Given the description of an element on the screen output the (x, y) to click on. 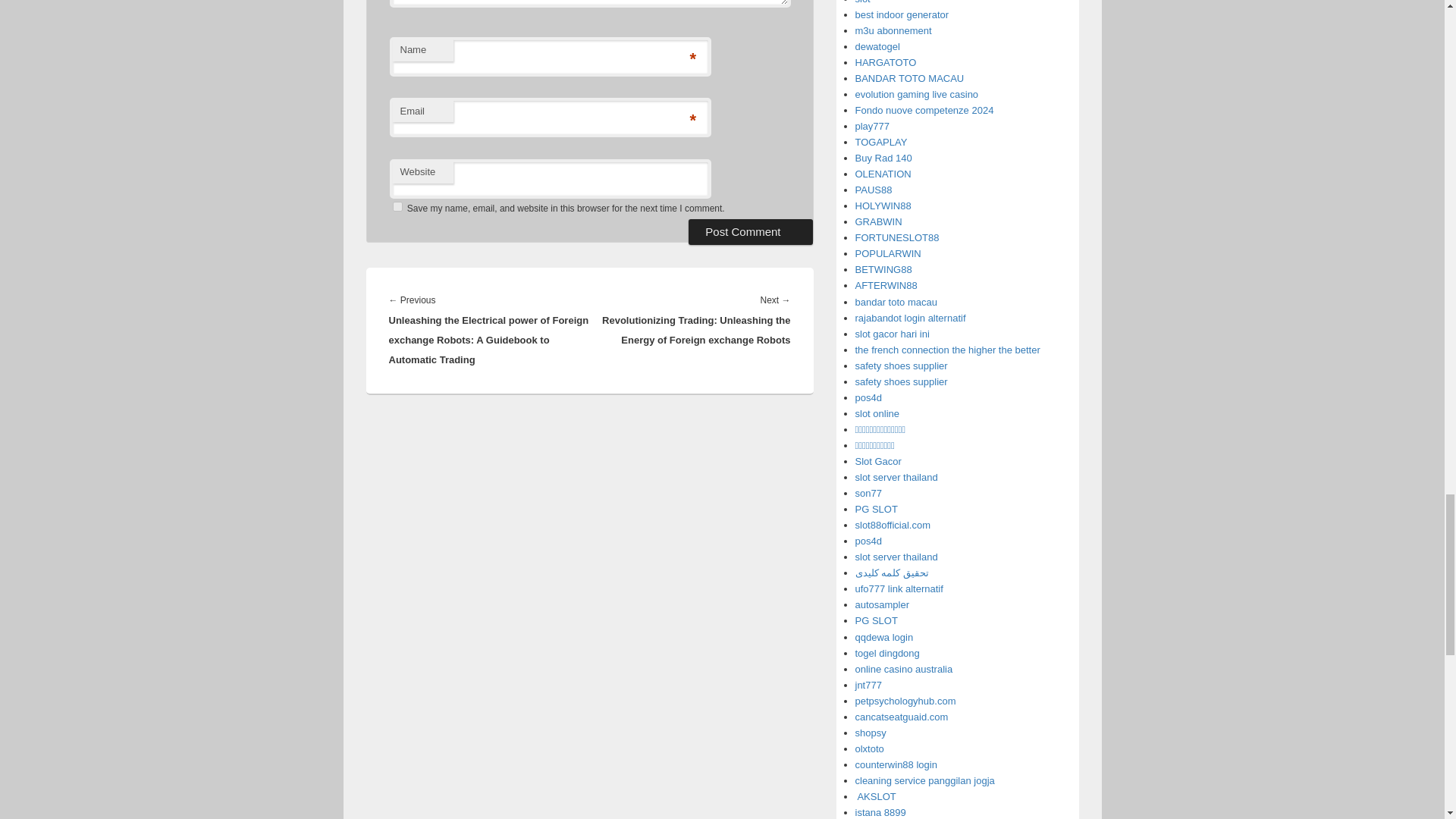
Post Comment (750, 231)
Post Comment (750, 231)
yes (398, 206)
